Given the description of an element on the screen output the (x, y) to click on. 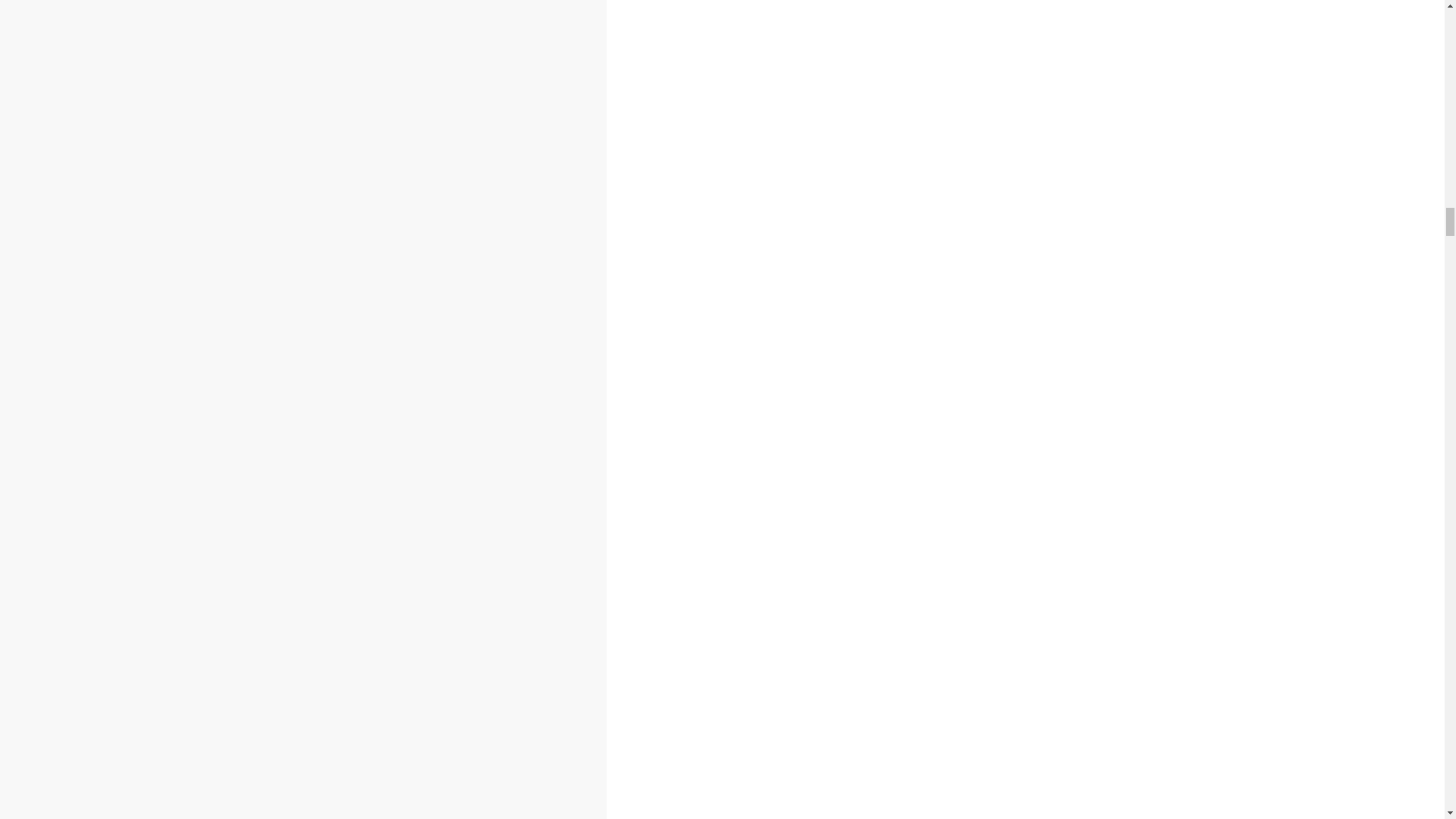
Gambling (85, 513)
Martienarichter (201, 583)
Live Draw Hk (58, 553)
